Given the description of an element on the screen output the (x, y) to click on. 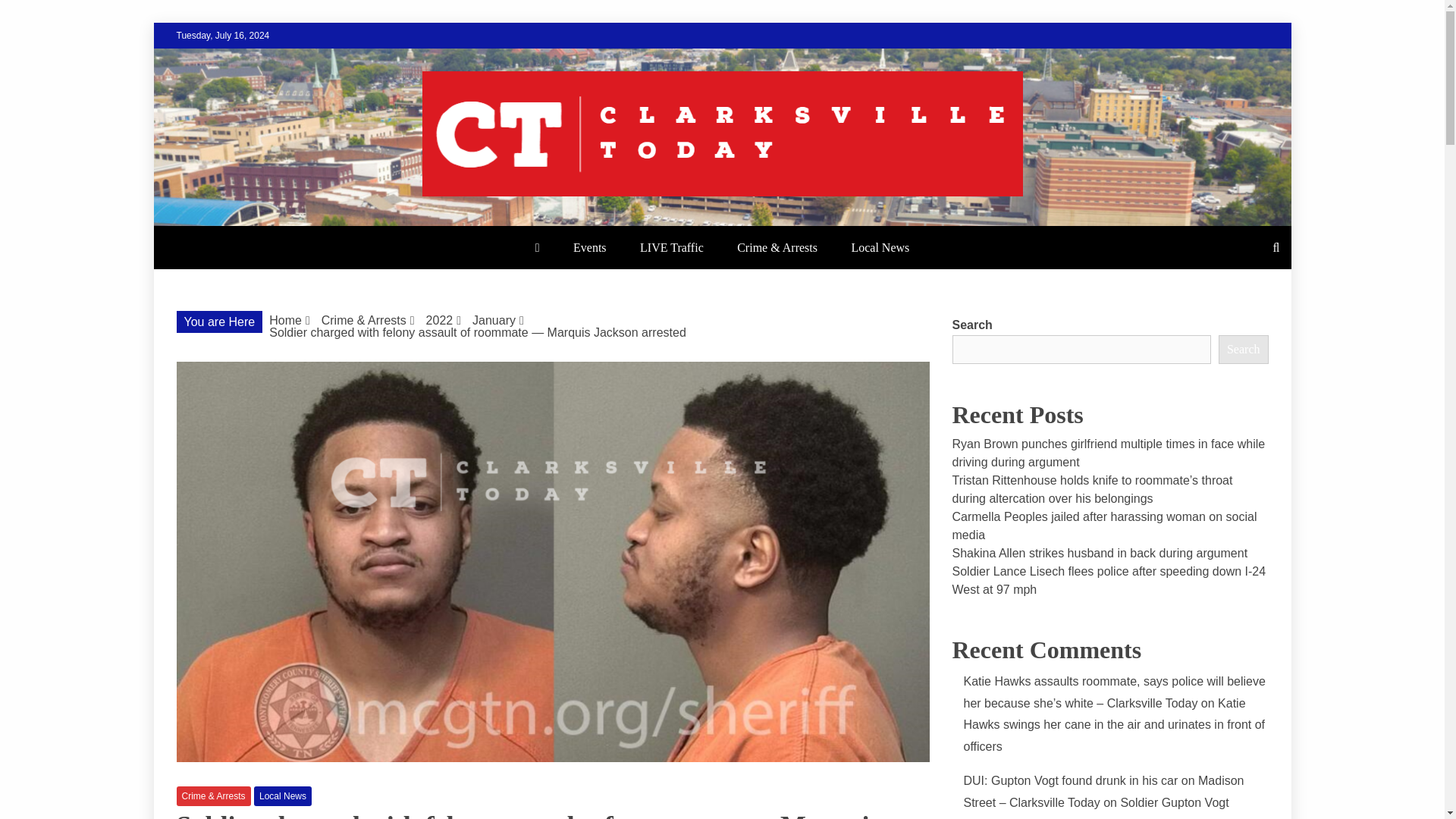
January (493, 319)
LIVE Traffic (671, 247)
Search (31, 13)
Events (589, 247)
2022 (439, 319)
CLARKSVILLE TODAY (351, 224)
Local News (282, 795)
Home (285, 319)
Local News (879, 247)
